Given the description of an element on the screen output the (x, y) to click on. 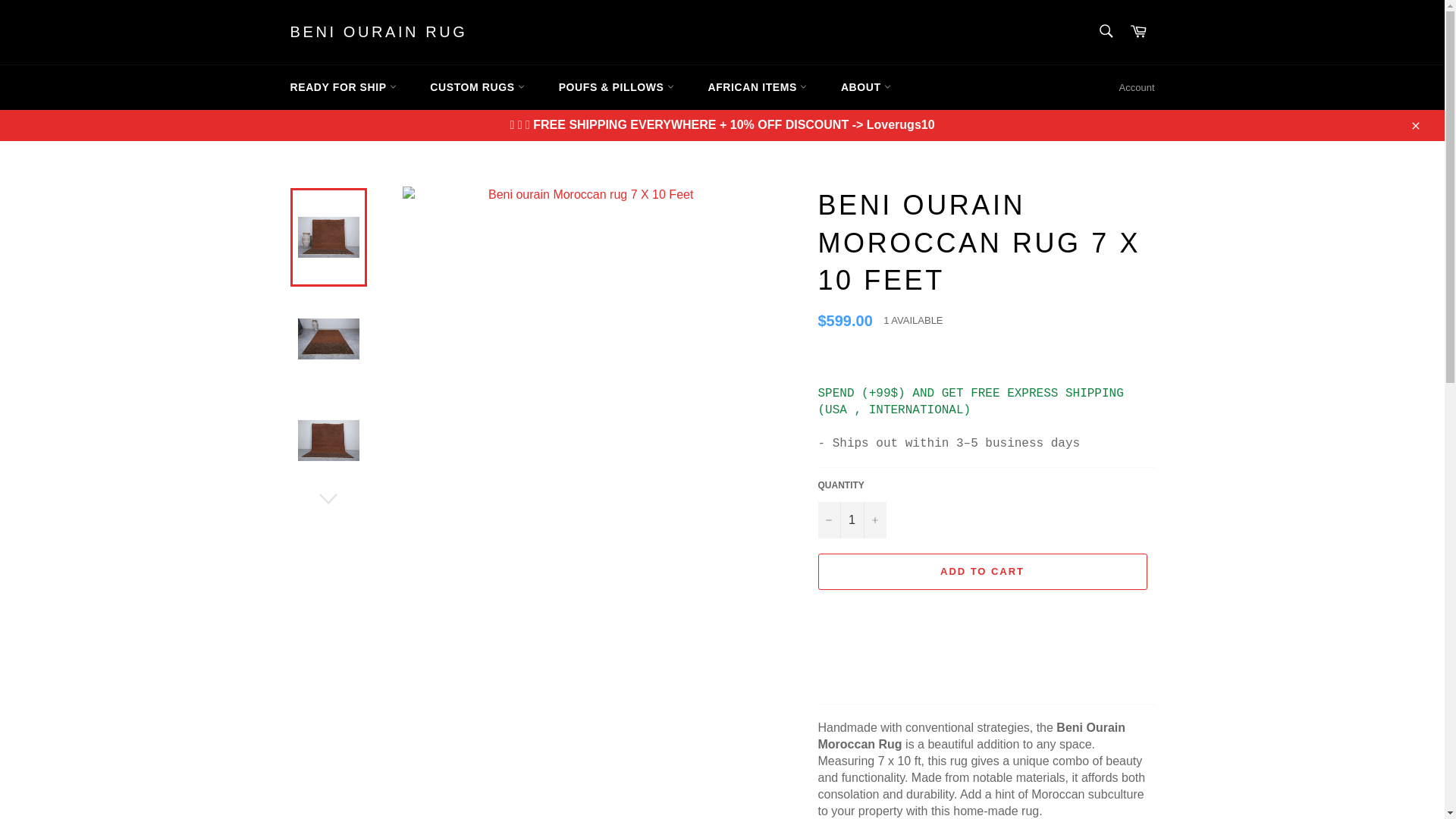
BENI OURAIN RUG (378, 32)
1 (850, 520)
Cart (1138, 32)
Search (1104, 30)
